Given the description of an element on the screen output the (x, y) to click on. 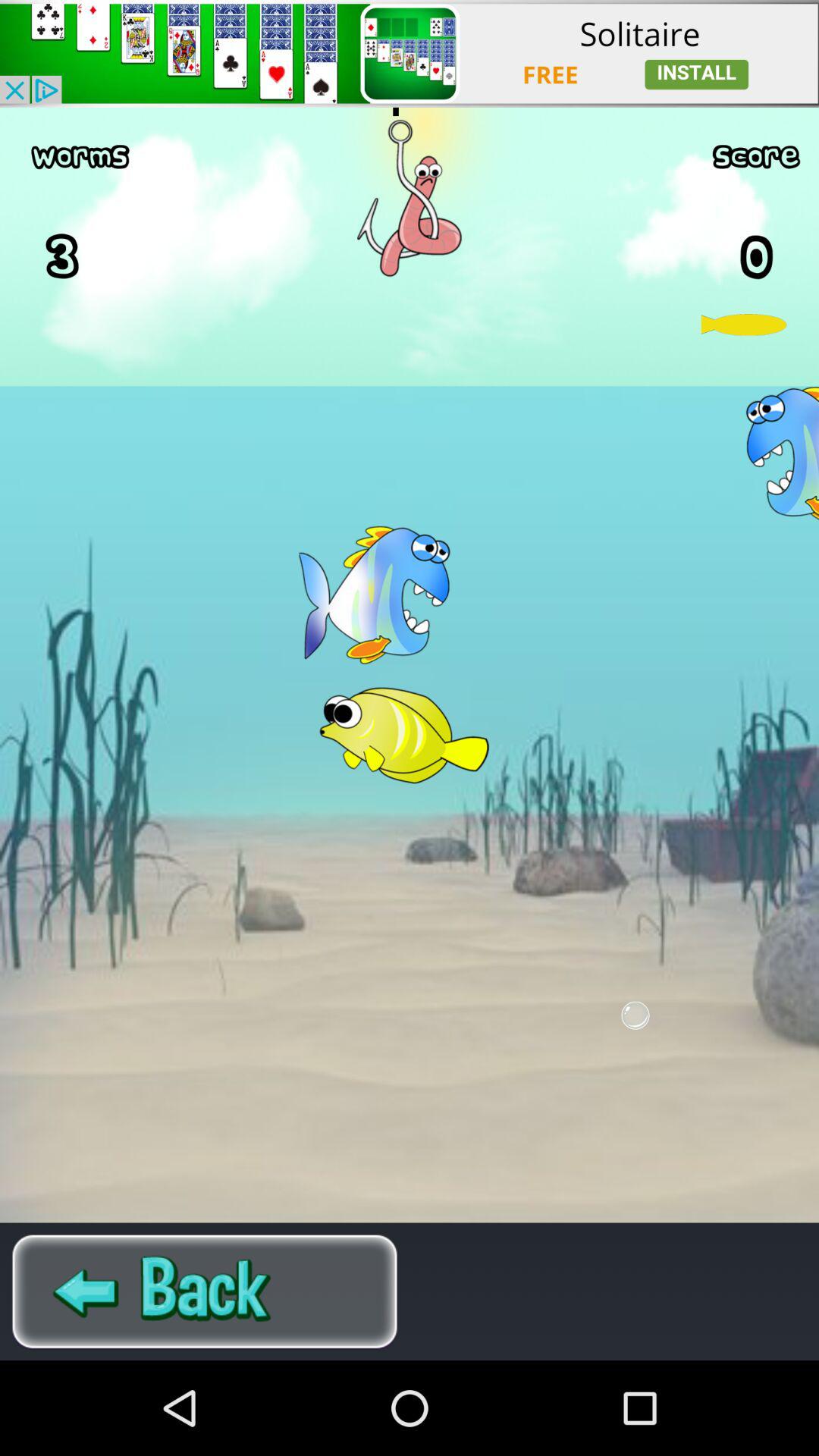
advertisement (409, 53)
